Given the description of an element on the screen output the (x, y) to click on. 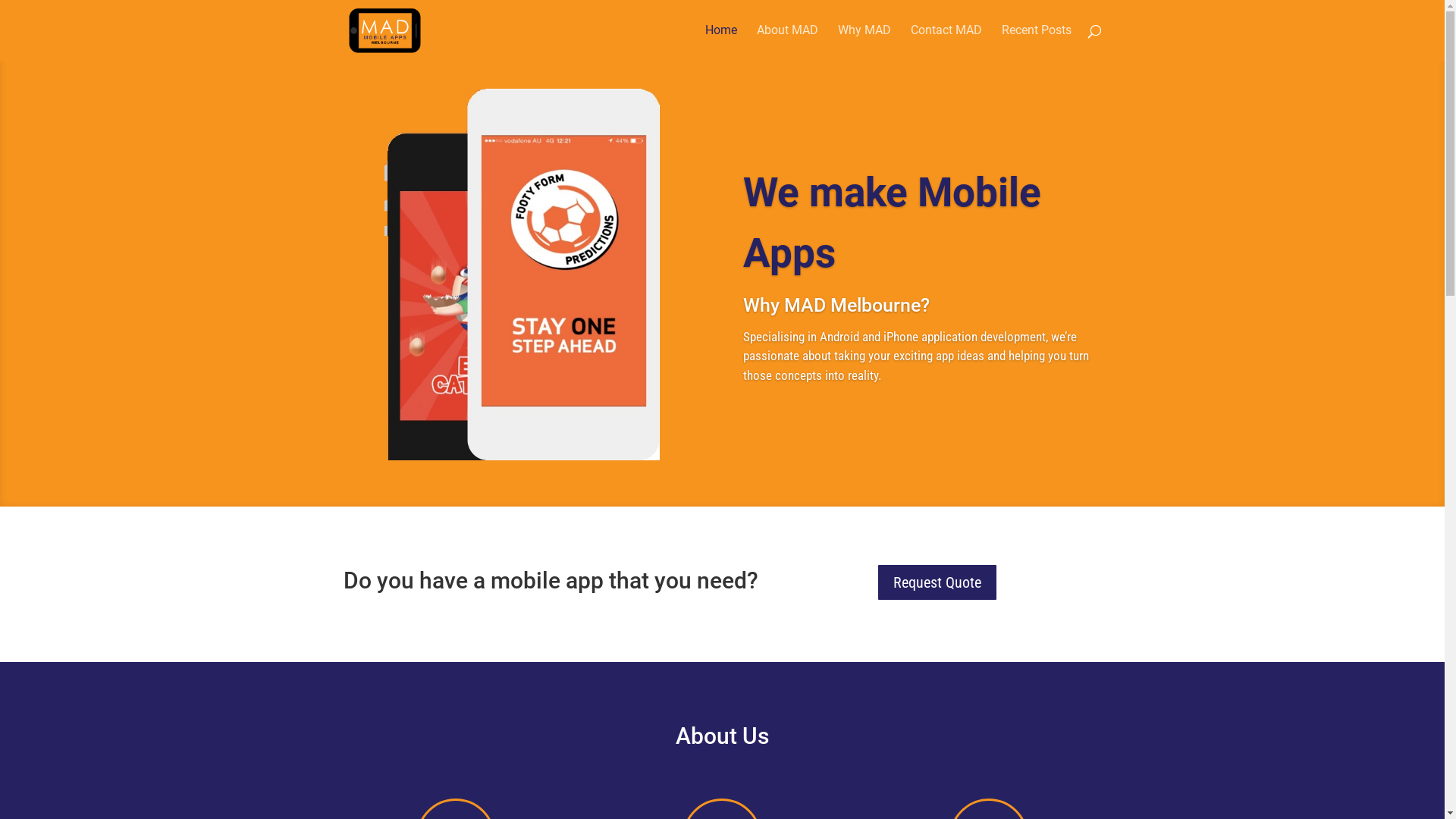
Contact MAD Element type: text (945, 42)
Home Element type: text (721, 42)
About MAD Element type: text (787, 42)
Request Quote Element type: text (936, 582)
Why MAD Element type: text (863, 42)
Recent Posts Element type: text (1035, 42)
